Given the description of an element on the screen output the (x, y) to click on. 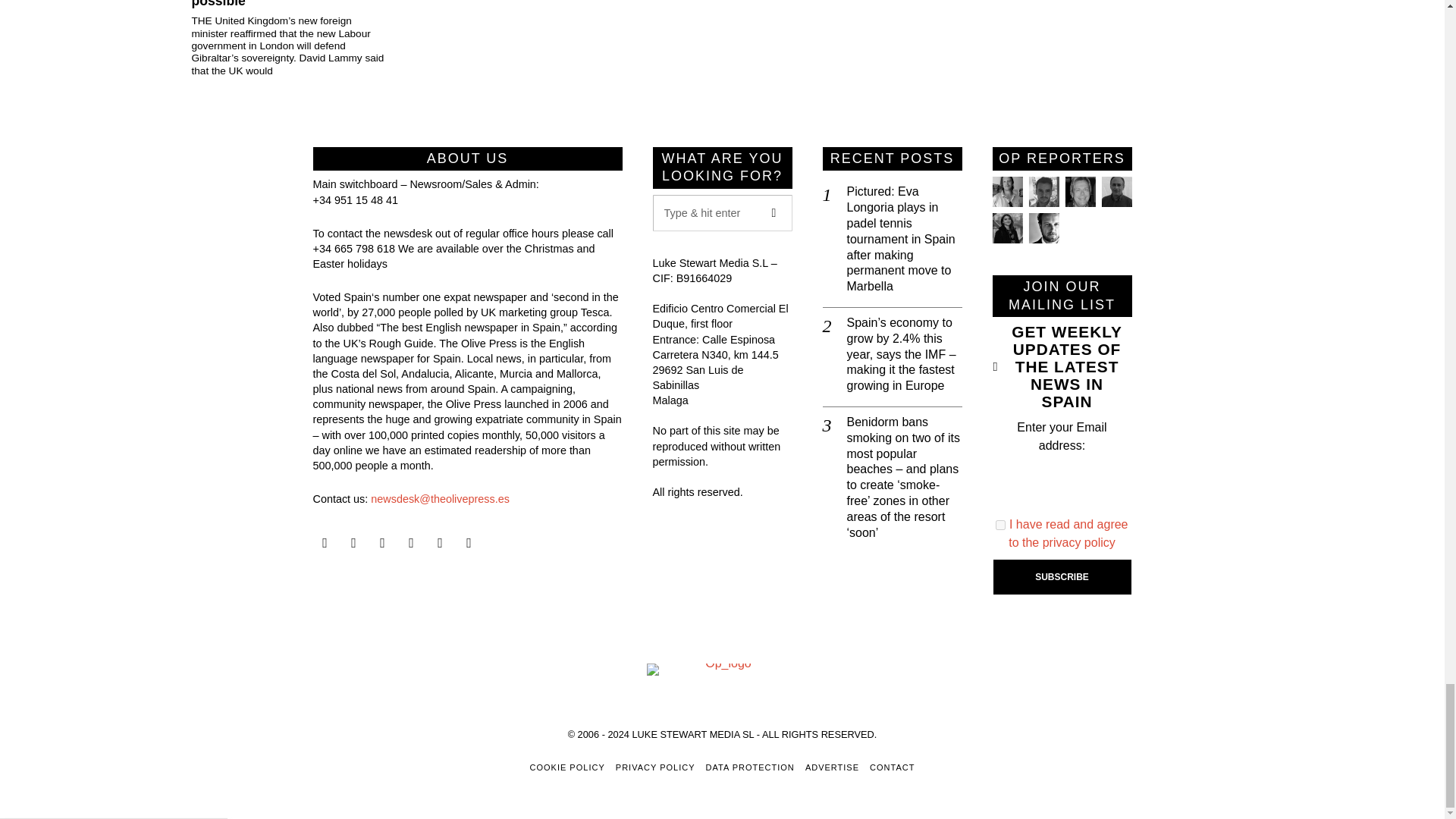
SUBSCRIBE (1061, 576)
Laurence Dollimore (1042, 191)
Dilip Kuner (1115, 191)
Alex Trelinski (1079, 191)
1 (1000, 524)
Go (773, 212)
